Given the description of an element on the screen output the (x, y) to click on. 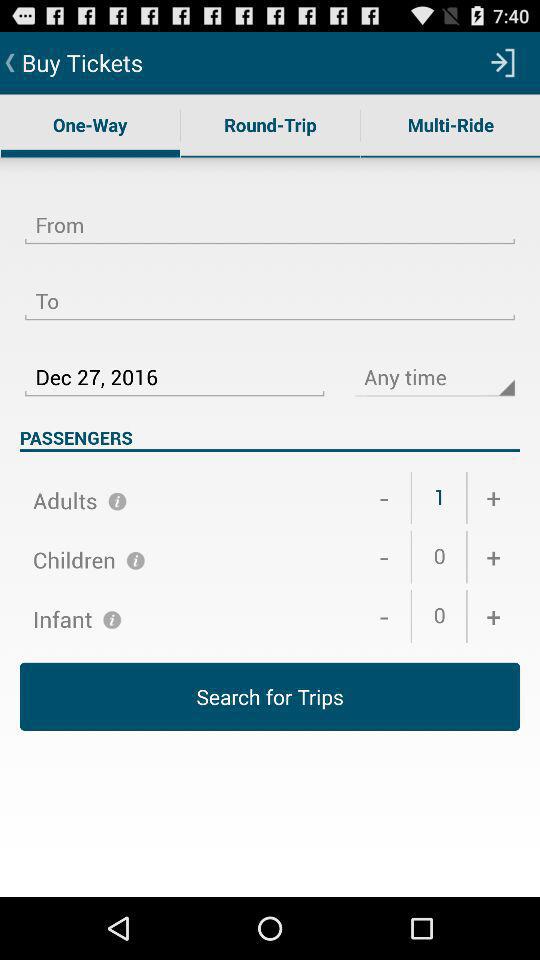
create from (269, 213)
